Given the description of an element on the screen output the (x, y) to click on. 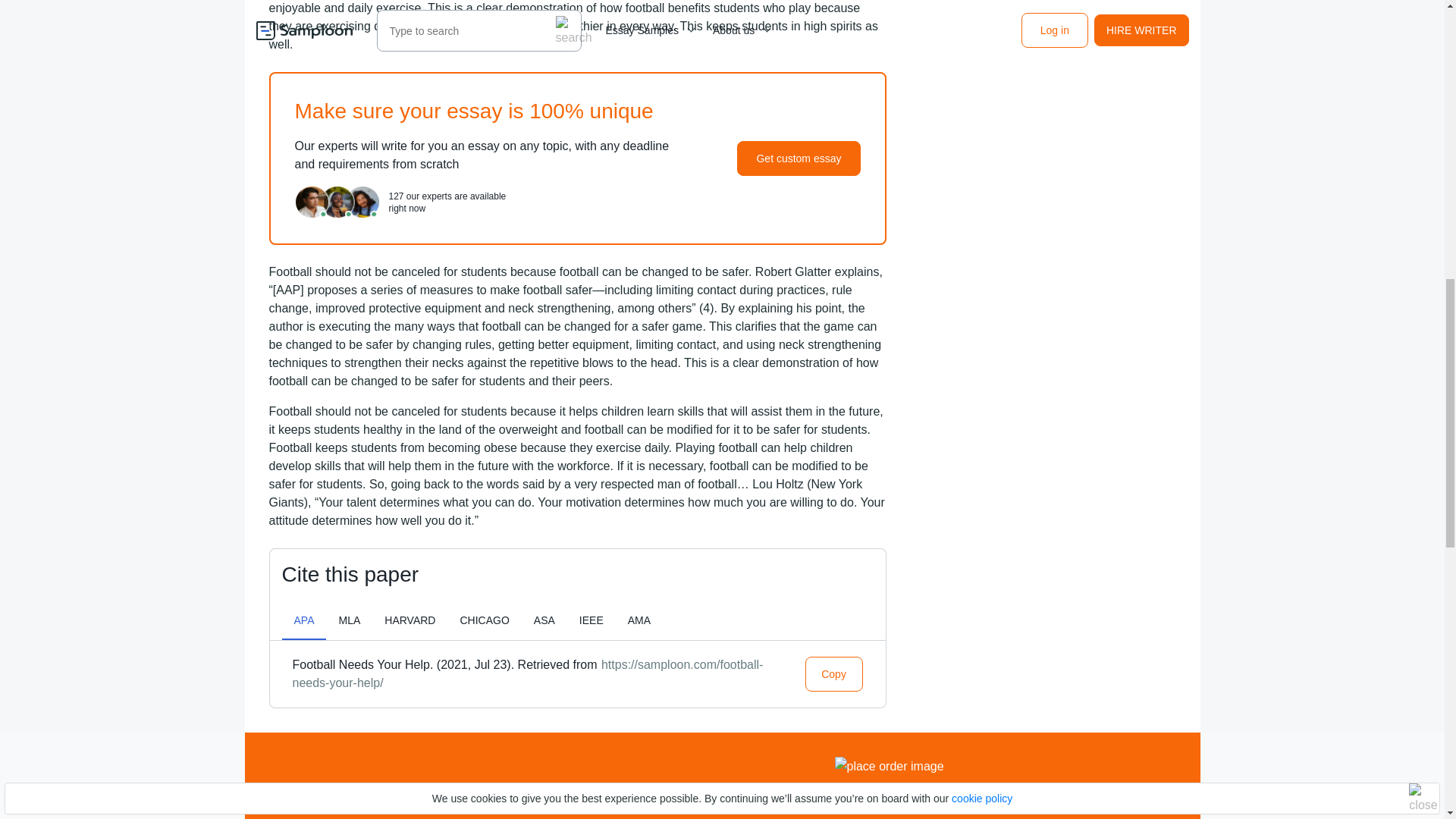
APA (304, 619)
HARVARD (409, 619)
IEEE (591, 619)
CHICAGO (483, 619)
ASA (544, 619)
MLA (349, 619)
AMA (638, 619)
